Given the description of an element on the screen output the (x, y) to click on. 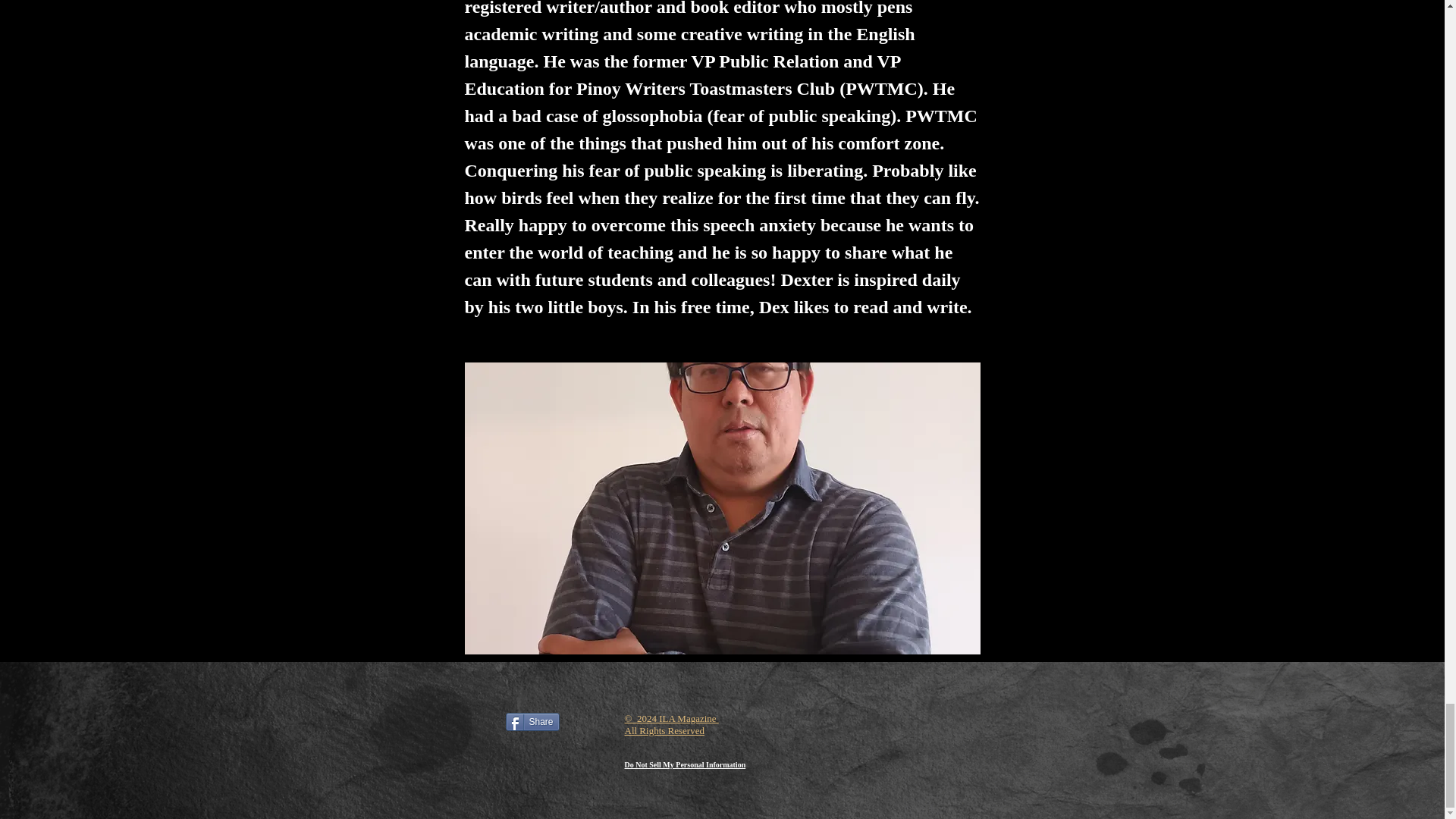
Do Not Sell My Personal Information (684, 765)
Share (532, 721)
Share (532, 721)
